Given the description of an element on the screen output the (x, y) to click on. 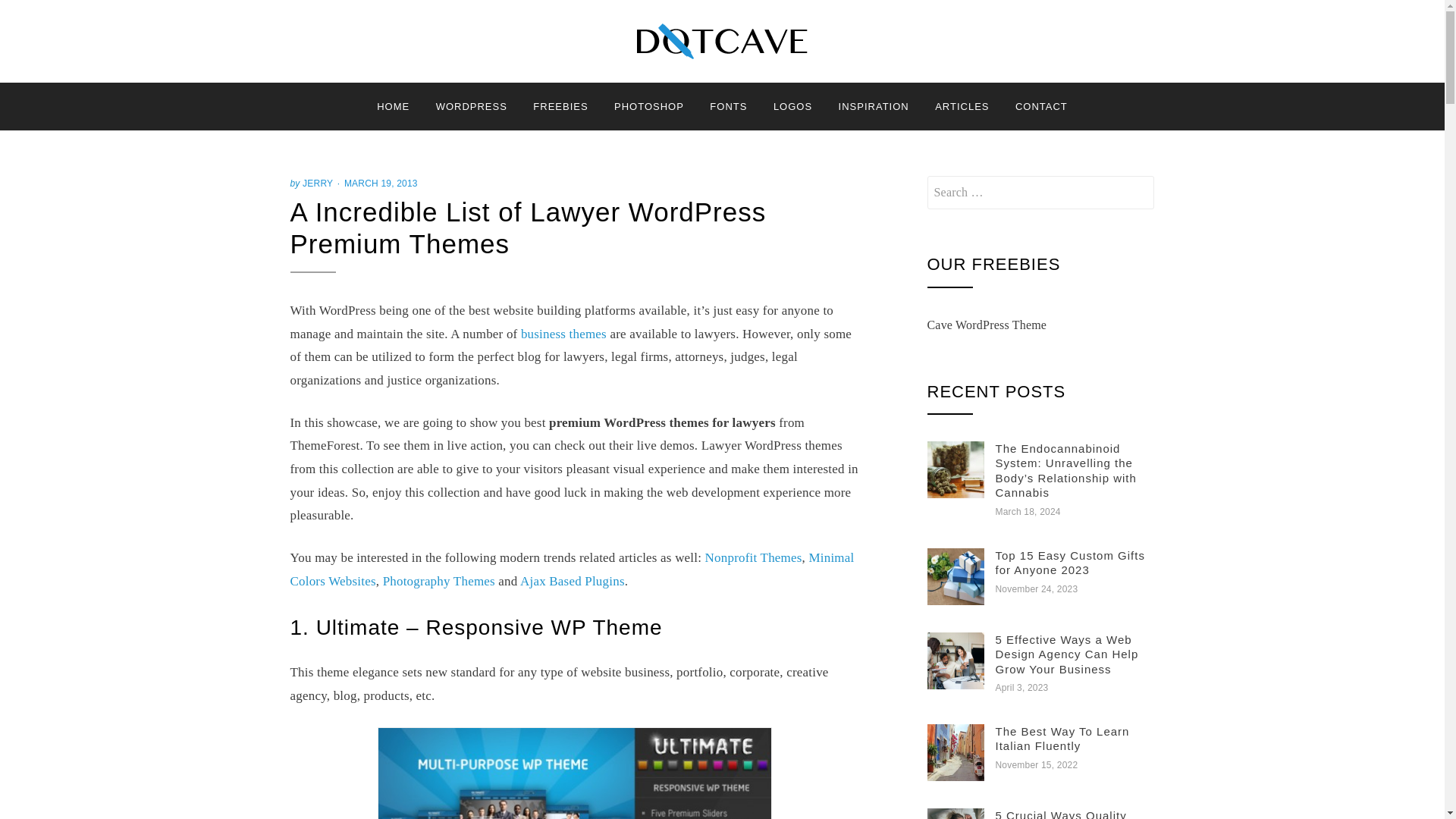
Ajax Based Plugins (571, 581)
DOTCAVE (372, 77)
CONTACT (1041, 106)
FREEBIES (559, 106)
ARTICLES (961, 106)
MARCH 19, 2013 (378, 183)
DotCave (372, 77)
FONTS (728, 106)
Photography Themes (438, 581)
Minimal Colors Websites (571, 569)
INSPIRATION (873, 106)
Nonprofit Themes (753, 557)
HOME (392, 106)
JERRY (317, 183)
